Given the description of an element on the screen output the (x, y) to click on. 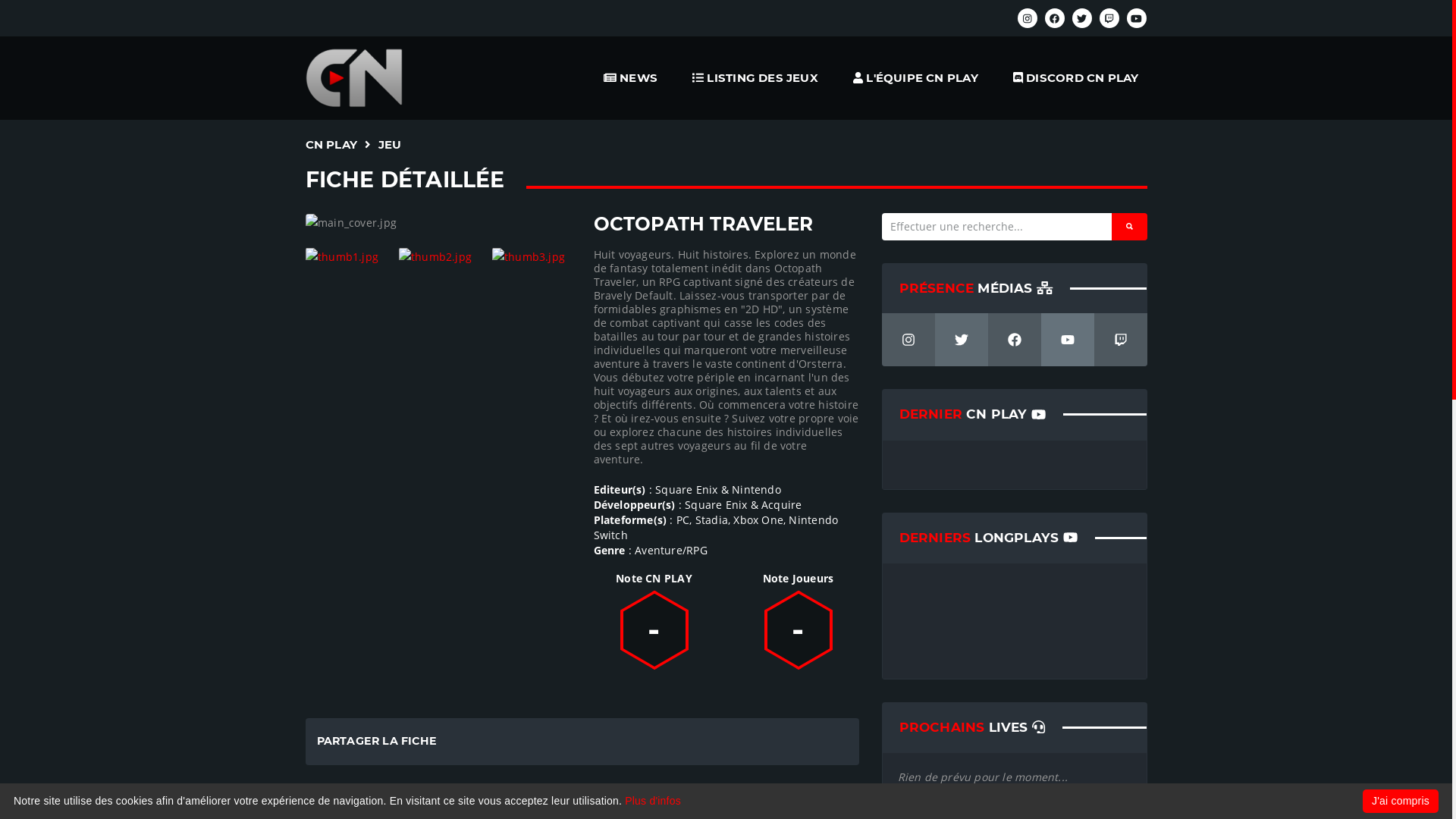
NEWS Element type: text (630, 77)
Retrouvez CN Play sur Facebook Element type: hover (1013, 339)
NEWS (1) Element type: text (535, 802)
CN PLAY Element type: text (330, 144)
[#Longplay 4K/FR] Super Mario RPG - Nintendo Switch Element type: hover (1075, 587)
Retrouvez CN Play sur Facebook Element type: hover (1054, 18)
Retrouvez CN Play sur Youtube Element type: hover (1066, 339)
Retrouvez CN Play sur Twitter Element type: hover (1082, 18)
  OST (0) Element type: text (705, 802)
Partager la fiche sur Twitter Element type: hover (836, 741)
INFOS Element type: text (342, 802)
Voir l'image Element type: hover (343, 256)
[#Longplay 4K/HDR] Daytona USA - Xbox Series X Element type: hover (952, 587)
Retrouvez CN Play sur Instagram Element type: hover (907, 339)
Retrouvez CN Play sur Twitch Element type: hover (1109, 18)
LISTING DES JEUX Element type: text (755, 77)
JEU Element type: text (389, 144)
TRAILERS (16) Element type: text (438, 802)
Retrouvez CN Play sur Instagram Element type: hover (1027, 18)
Voir l'image Element type: hover (437, 256)
Retrouvez CN Play sur Twitter Element type: hover (960, 339)
Voir l'image Element type: hover (531, 256)
Retrouvez CN Play sur Youtube Element type: hover (1136, 18)
Retrouvez CN Play sur Twitch Element type: hover (1119, 339)
Plus d'infos Element type: text (652, 800)
DISCORD CN PLAY Element type: text (1075, 77)
AVIS (0) Element type: text (621, 802)
